Given the description of an element on the screen output the (x, y) to click on. 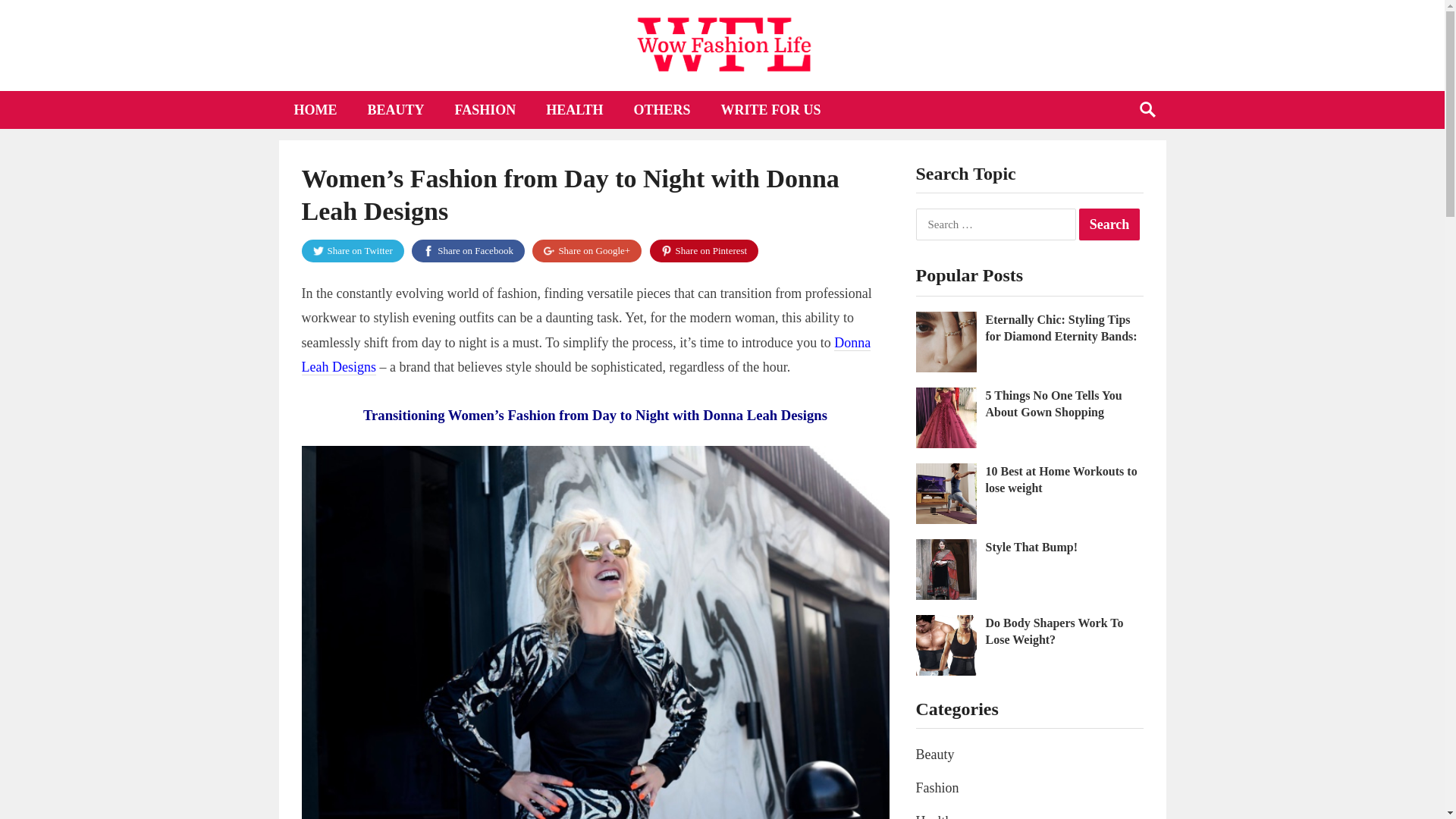
HOME (315, 109)
WRITE FOR US (770, 109)
Search (1109, 224)
FASHION (485, 109)
Donna Leah Designs (585, 354)
Search (1109, 224)
Share on Facebook (468, 250)
BEAUTY (395, 109)
Share on Twitter (352, 250)
HEALTH (574, 109)
Search (1109, 224)
OTHERS (662, 109)
Share on Pinterest (703, 250)
